Given the description of an element on the screen output the (x, y) to click on. 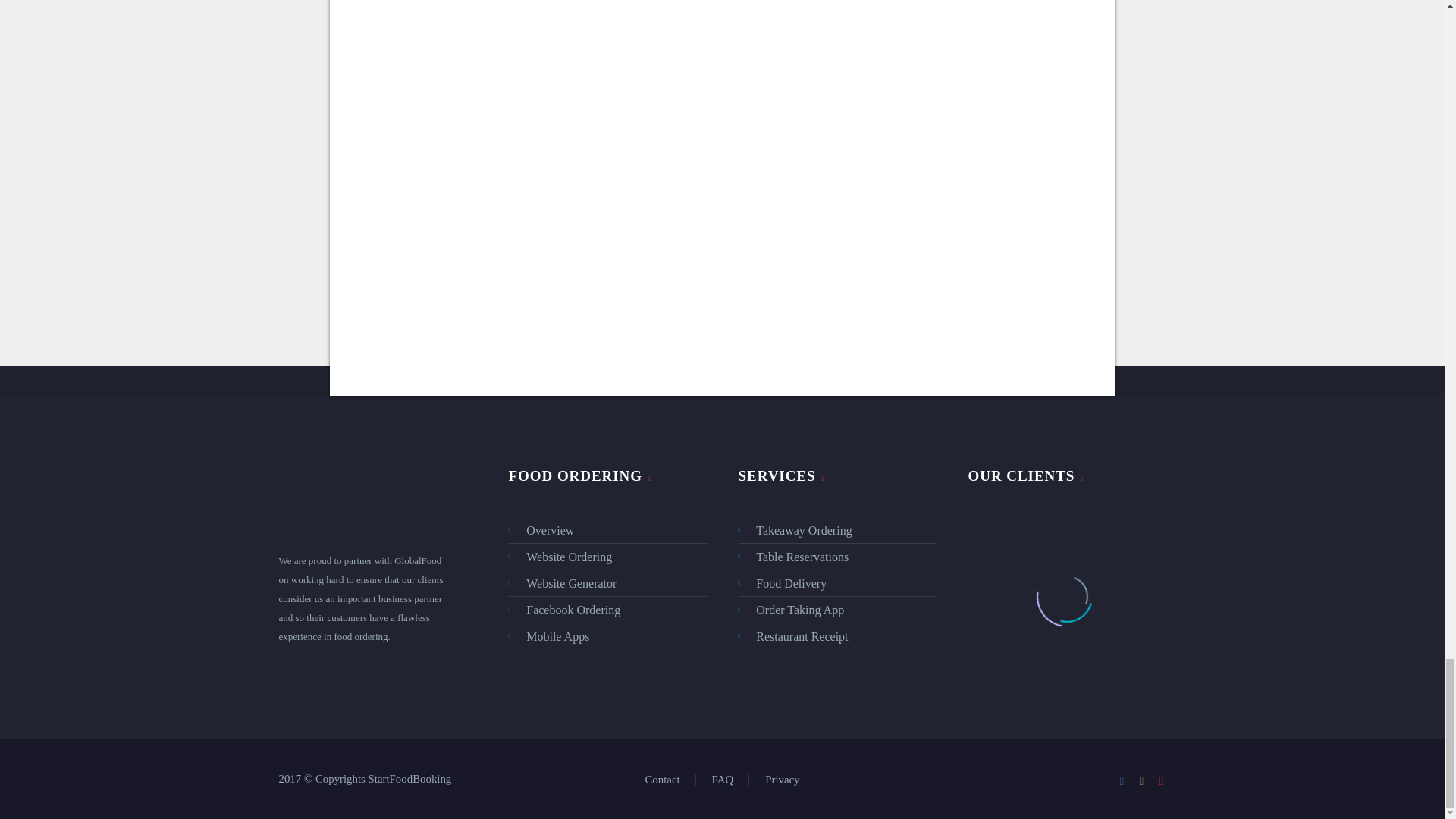
Food Delivery (837, 583)
Instagram (1141, 780)
Facebook Ordering (607, 609)
Website Ordering (607, 556)
Table Reservations (837, 556)
Facebook (1122, 780)
Mobile Apps (607, 636)
Website Generator (607, 583)
YouTube (1161, 780)
Overview (607, 529)
Takeaway Ordering (837, 529)
